Given the description of an element on the screen output the (x, y) to click on. 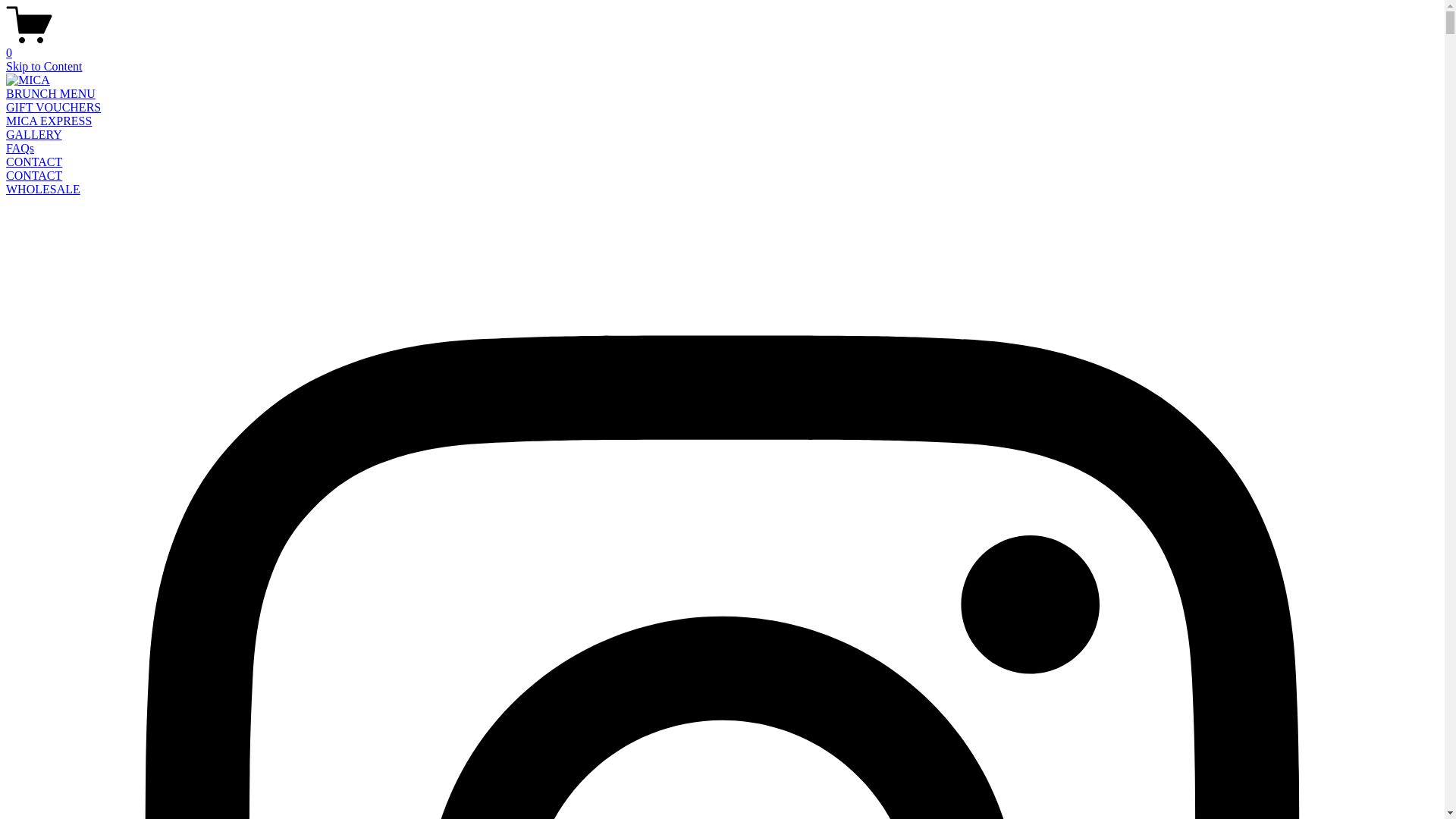
WHOLESALE Element type: text (43, 188)
0 Element type: text (722, 45)
CONTACT Element type: text (34, 175)
CONTACT Element type: text (34, 161)
BRUNCH MENU Element type: text (50, 93)
FAQs Element type: text (20, 147)
GALLERY Element type: text (34, 134)
Skip to Content Element type: text (43, 65)
MICA EXPRESS Element type: text (48, 120)
GIFT VOUCHERS Element type: text (53, 106)
